Given the description of an element on the screen output the (x, y) to click on. 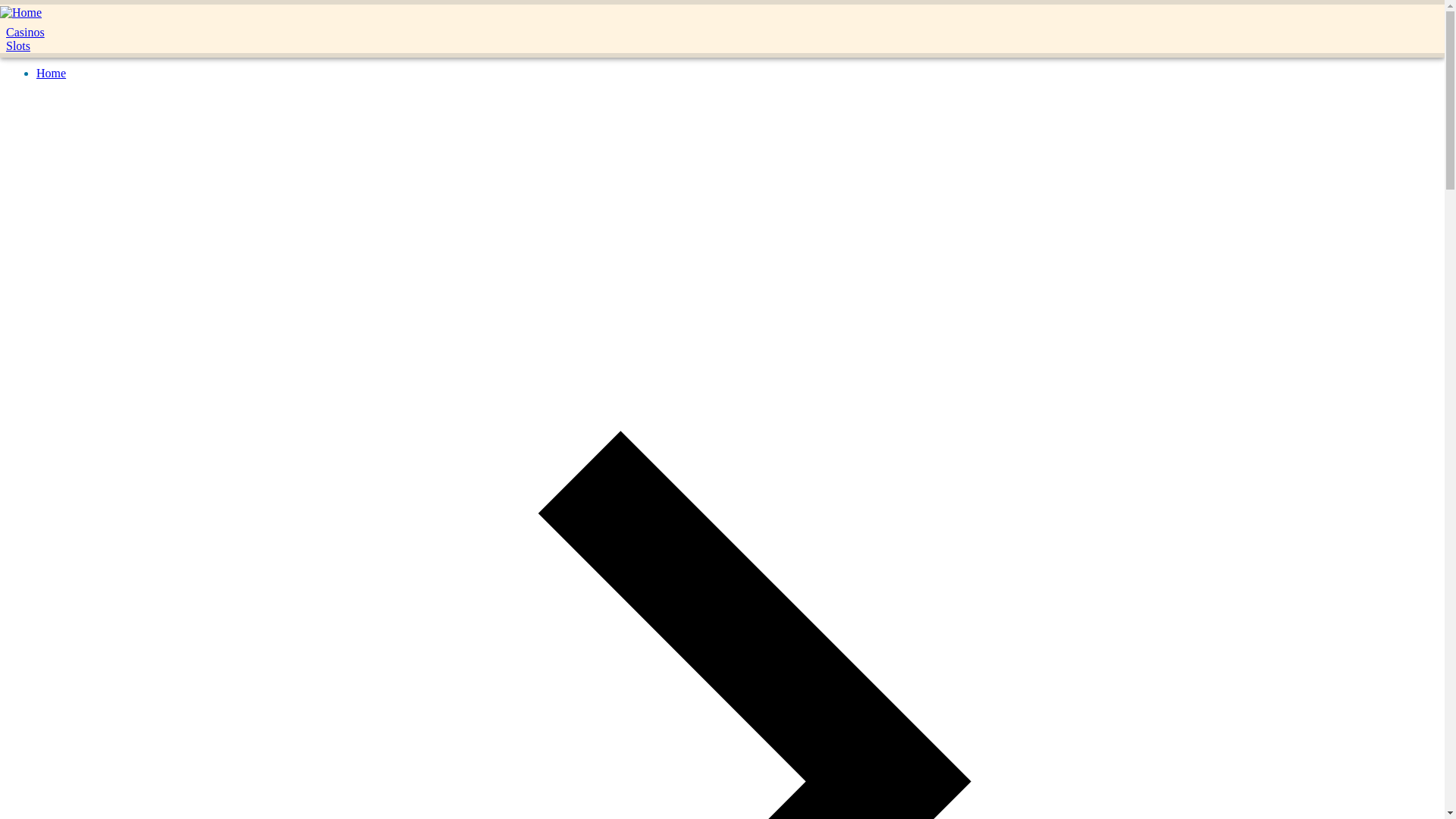
Home (50, 72)
Slots (43, 46)
Casinos (43, 32)
